Given the description of an element on the screen output the (x, y) to click on. 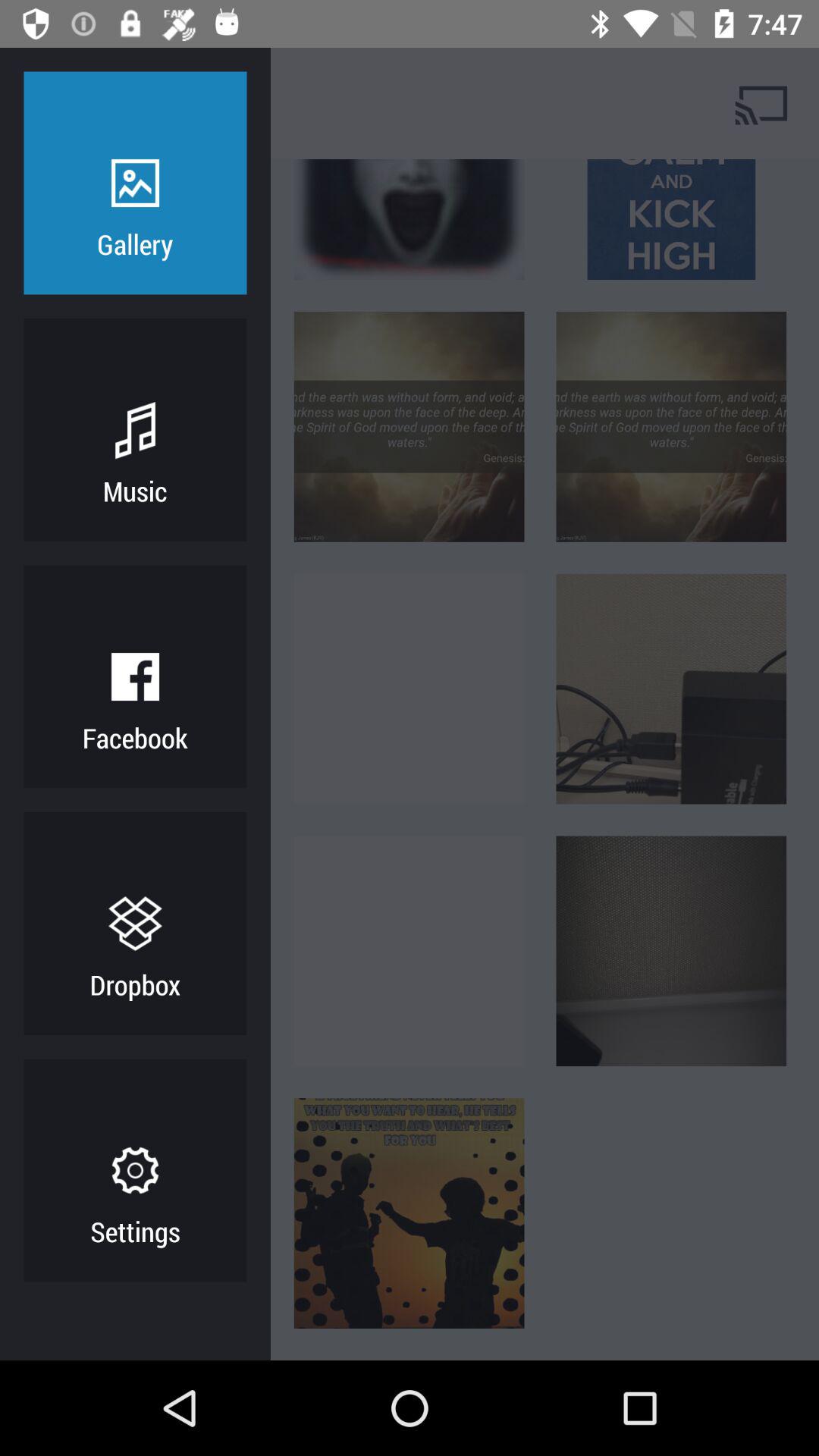
swipe until the dropbox item (134, 984)
